Given the description of an element on the screen output the (x, y) to click on. 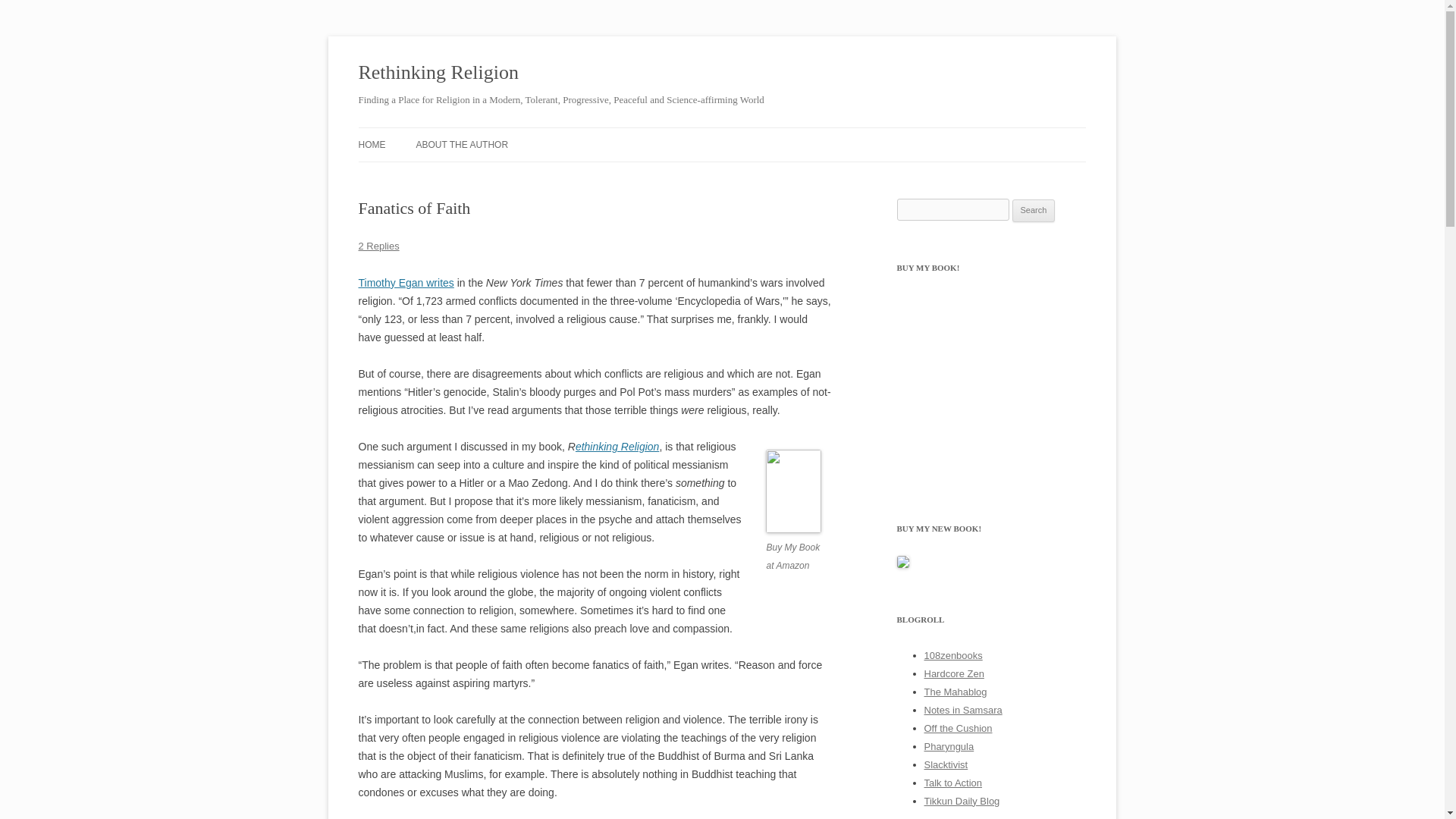
HOME (371, 144)
Notes in Samsara (962, 709)
ethinking Religion (617, 446)
Timothy Egan writes (405, 282)
The Mahablog (955, 691)
ABOUT THE AUTHOR (461, 144)
108zenbooks (952, 655)
Tikkun Daily Blog (960, 800)
Slacktivist (945, 764)
Rethinking Religion (438, 72)
Talk to Action (952, 782)
2 Replies (378, 245)
Off the Cushion (957, 727)
Pharyngula (948, 746)
Search (1033, 210)
